Given the description of an element on the screen output the (x, y) to click on. 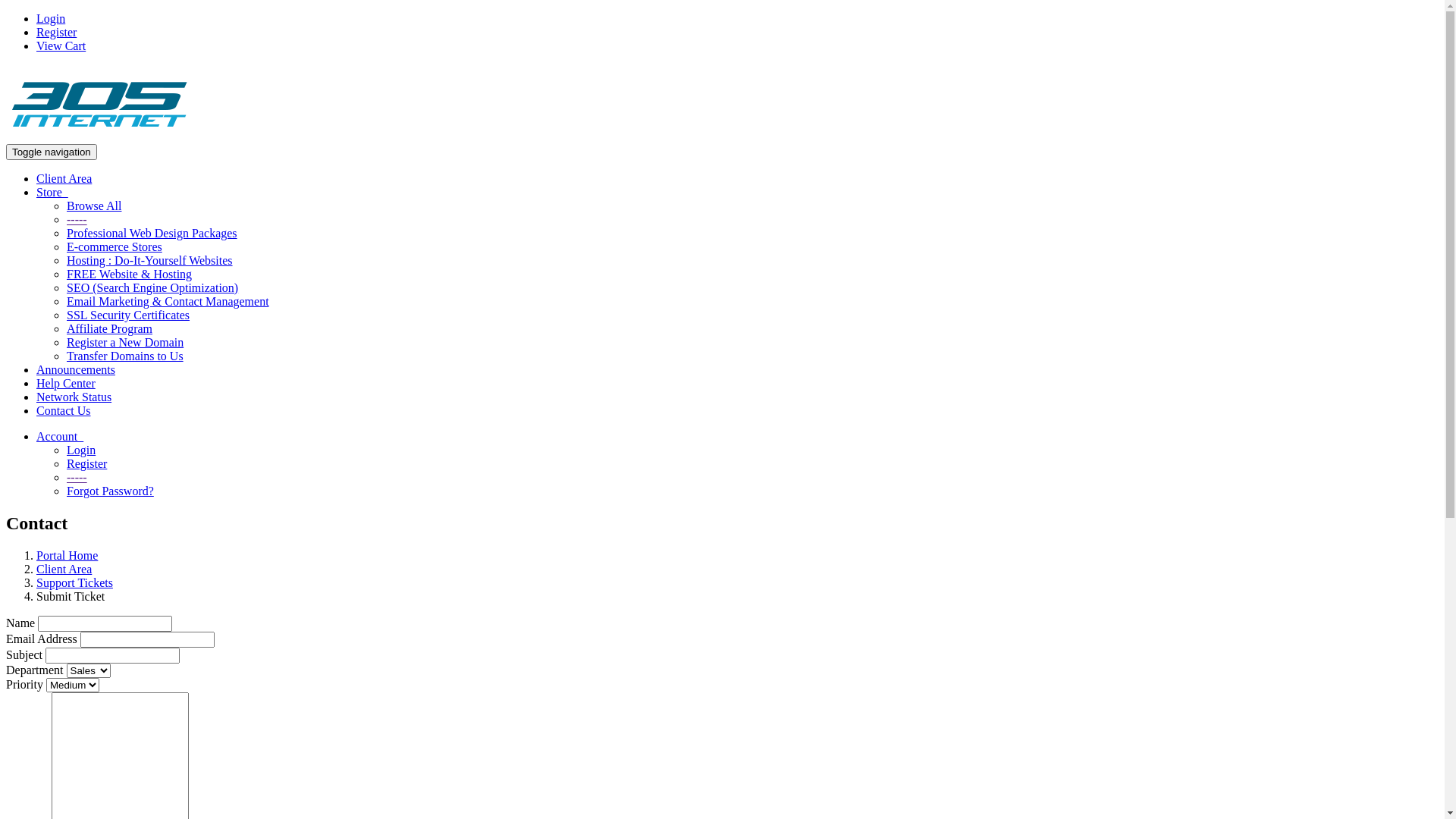
Client Area Element type: text (63, 178)
Announcements Element type: text (75, 369)
----- Element type: text (76, 219)
Store   Element type: text (52, 191)
----- Element type: text (76, 476)
Transfer Domains to Us Element type: text (124, 355)
Client Area Element type: text (63, 568)
Login Element type: text (80, 449)
Affiliate Program Element type: text (109, 328)
Login Element type: text (50, 18)
Account   Element type: text (59, 435)
Contact Us Element type: text (63, 410)
Register Element type: text (56, 31)
Portal Home Element type: text (66, 555)
Professional Web Design Packages Element type: text (151, 232)
SSL Security Certificates Element type: text (127, 314)
View Cart Element type: text (60, 45)
Forgot Password? Element type: text (109, 490)
E-commerce Stores Element type: text (114, 246)
Register Element type: text (86, 463)
SEO (Search Engine Optimization) Element type: text (152, 287)
Toggle navigation Element type: text (51, 152)
Register a New Domain Element type: text (124, 341)
Hosting : Do-It-Yourself Websites Element type: text (149, 260)
Browse All Element type: text (93, 205)
Email Marketing & Contact Management Element type: text (167, 300)
FREE Website & Hosting Element type: text (128, 273)
Network Status Element type: text (73, 396)
Help Center Element type: text (65, 382)
Support Tickets Element type: text (74, 582)
